Given the description of an element on the screen output the (x, y) to click on. 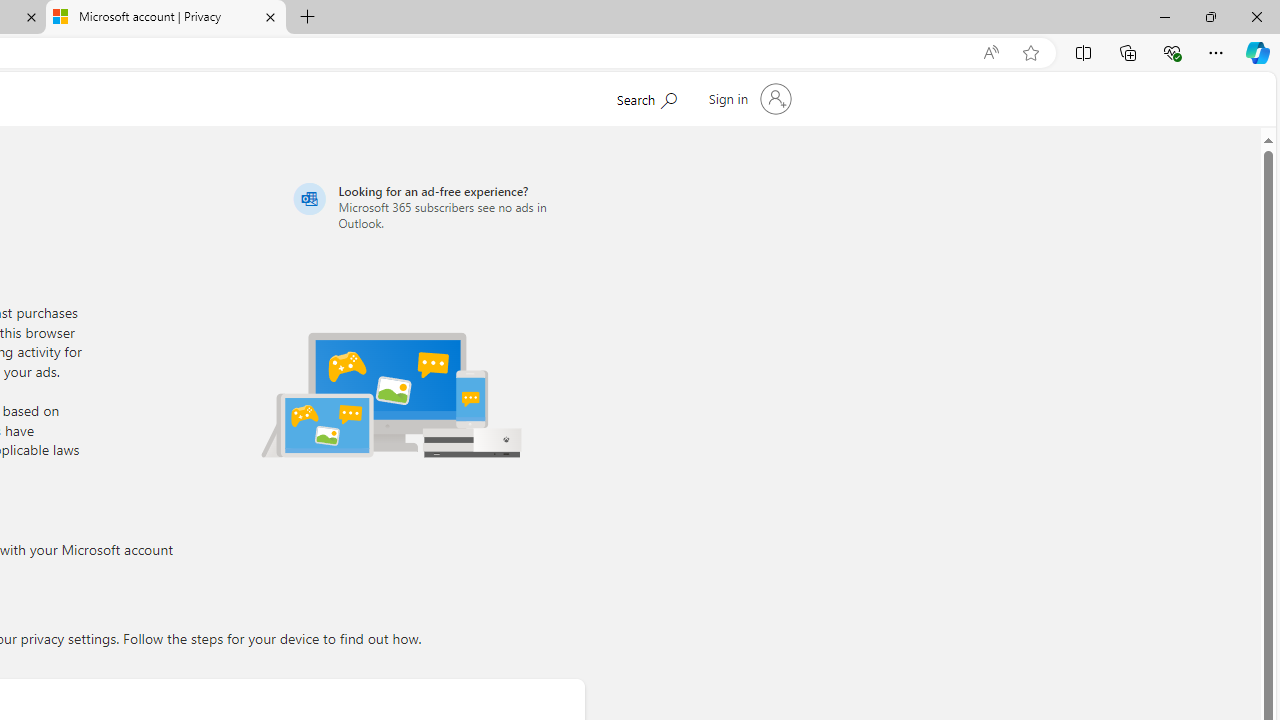
Search Microsoft.com (646, 97)
Illustration of multiple devices (391, 394)
Looking for an ad-free experience? (436, 206)
